Given the description of an element on the screen output the (x, y) to click on. 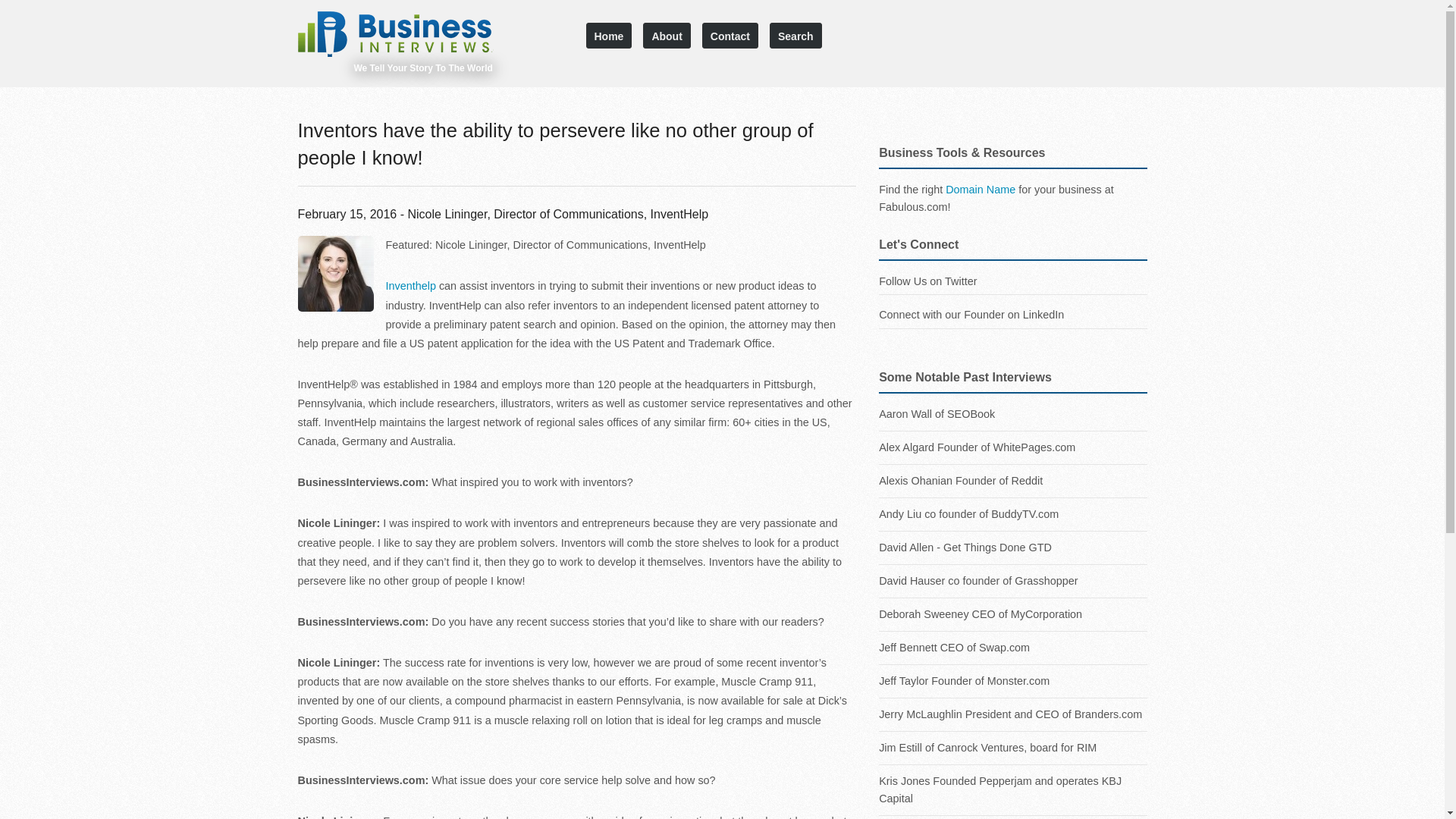
Alex Algard Founder of WhitePages.com (1013, 447)
Jerry McLaughlin President and CEO of Branders.com (1013, 714)
David Allen - Get Things Done GTD (1013, 547)
Andy Liu co founder of BuddyTV.com (1013, 514)
David Hauser co founder of Grasshopper (1013, 580)
Deborah Sweeney CEO of MyCorporation (1013, 614)
Aaron Wall of SEOBook (1013, 326)
Jim Estill of Canrock Ventures, board for RIM (1013, 747)
Inventhelp (410, 285)
Follow Us on Twitter (927, 281)
